Given the description of an element on the screen output the (x, y) to click on. 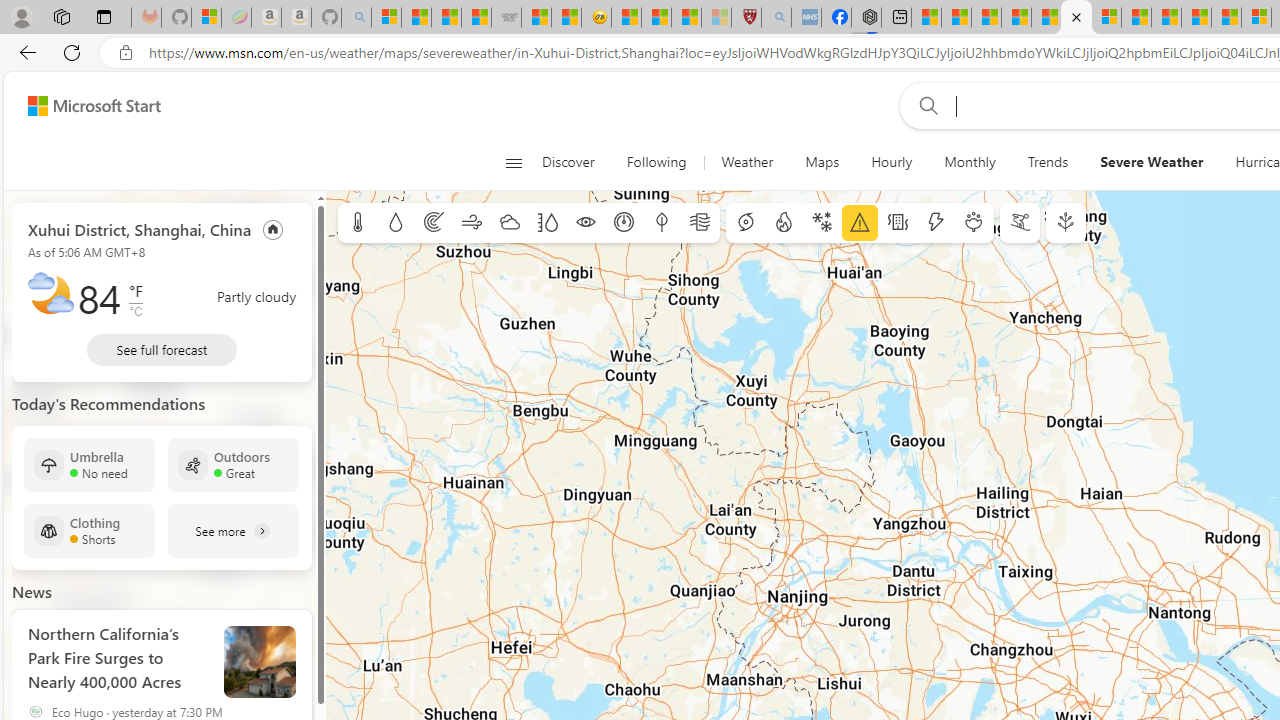
Winter weather (821, 223)
Lightning (935, 223)
Outdoors Great (233, 464)
Wind (472, 223)
Sea level pressure (623, 223)
Temperature (358, 223)
